Given the description of an element on the screen output the (x, y) to click on. 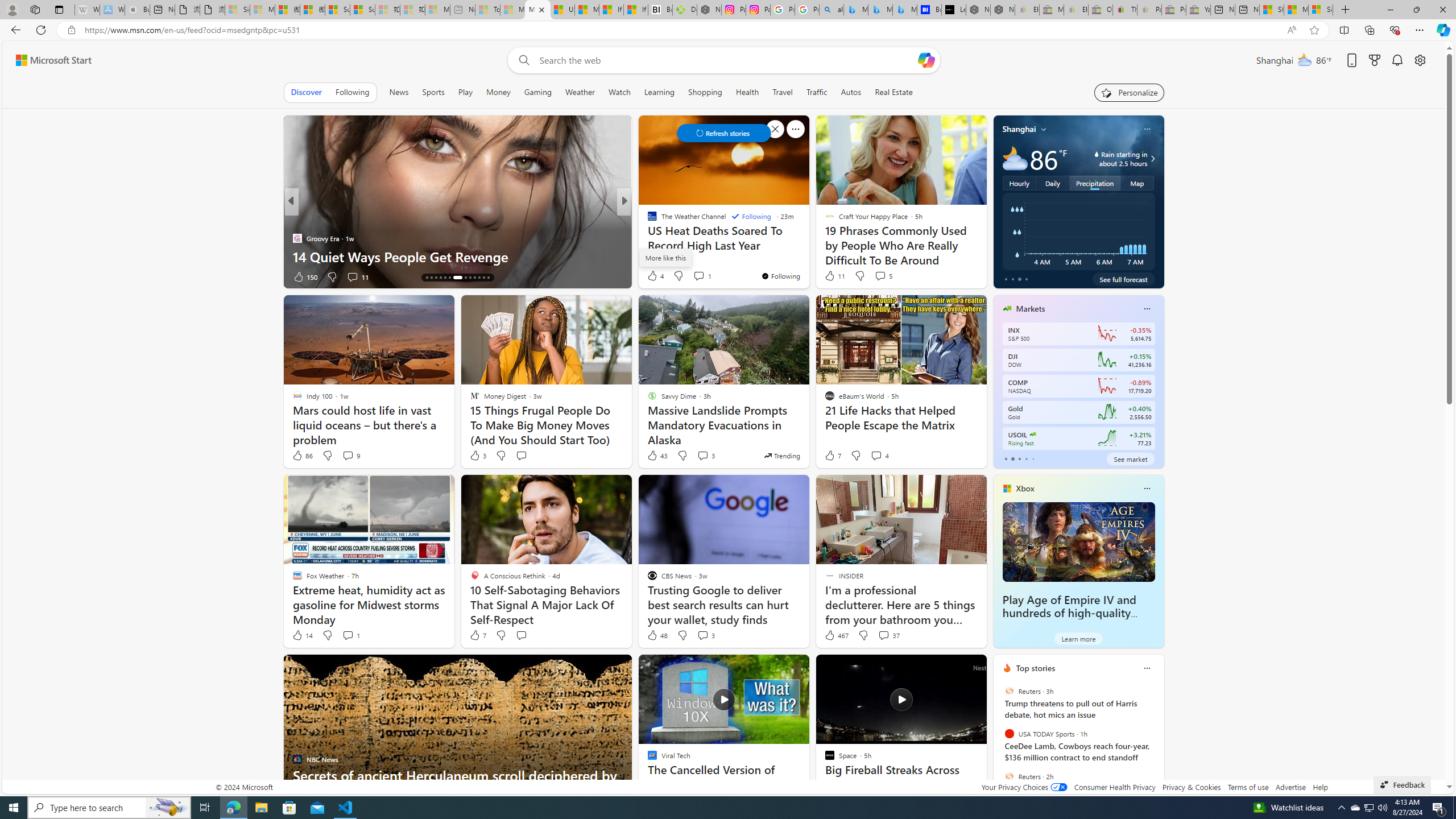
AutomationID: tab-20 (457, 277)
A Conscious Rethink (647, 219)
View site information (70, 29)
Personal Profile (12, 9)
Autos (851, 92)
Learn more (1078, 638)
'Pretty spectacular' discovery in George Washington's cellar (807, 247)
See full forecast (1123, 278)
AutomationID: tab-18 (444, 277)
3 Like (477, 455)
